Given the description of an element on the screen output the (x, y) to click on. 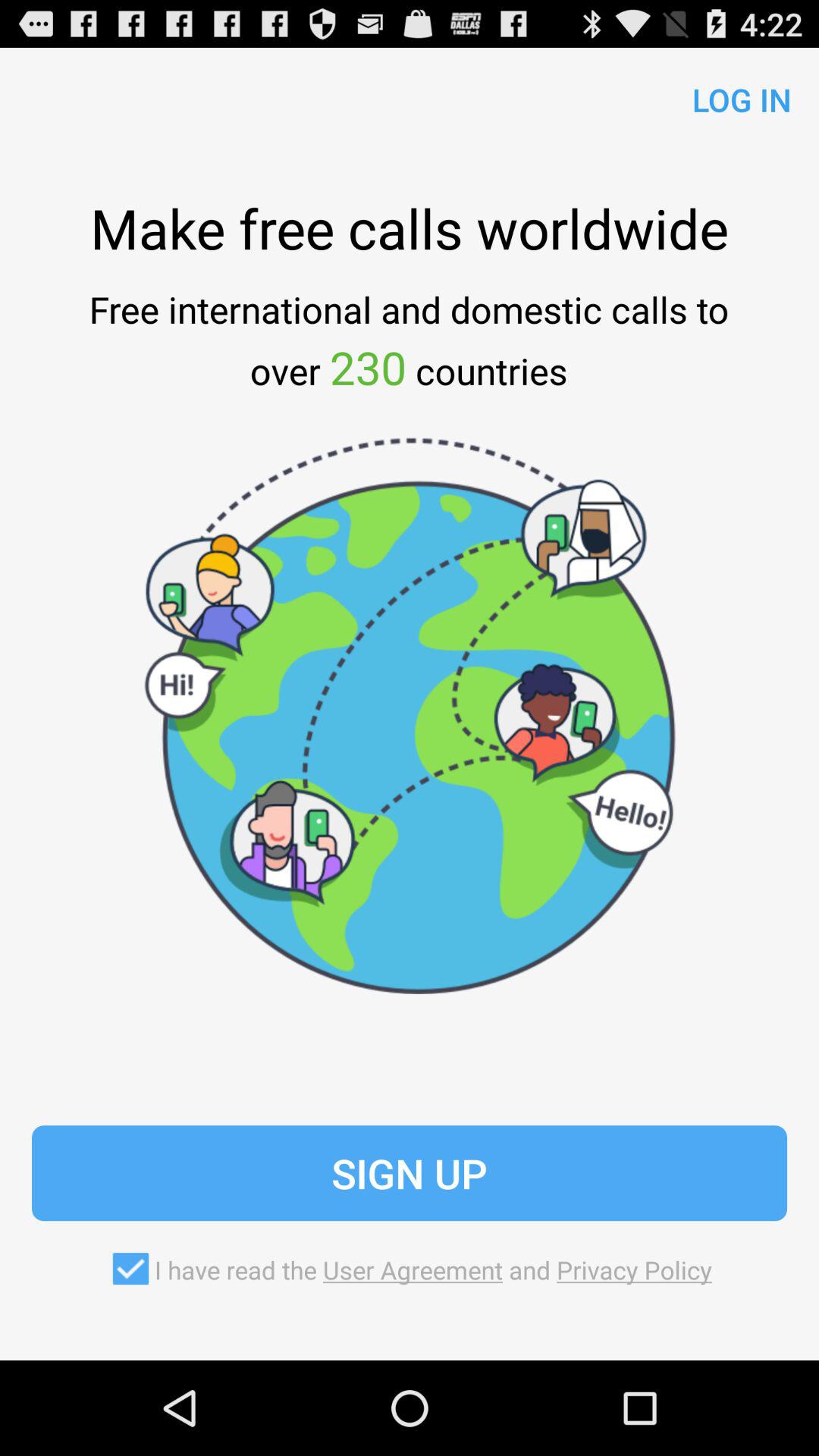
turn on the icon above the make free calls app (735, 96)
